Given the description of an element on the screen output the (x, y) to click on. 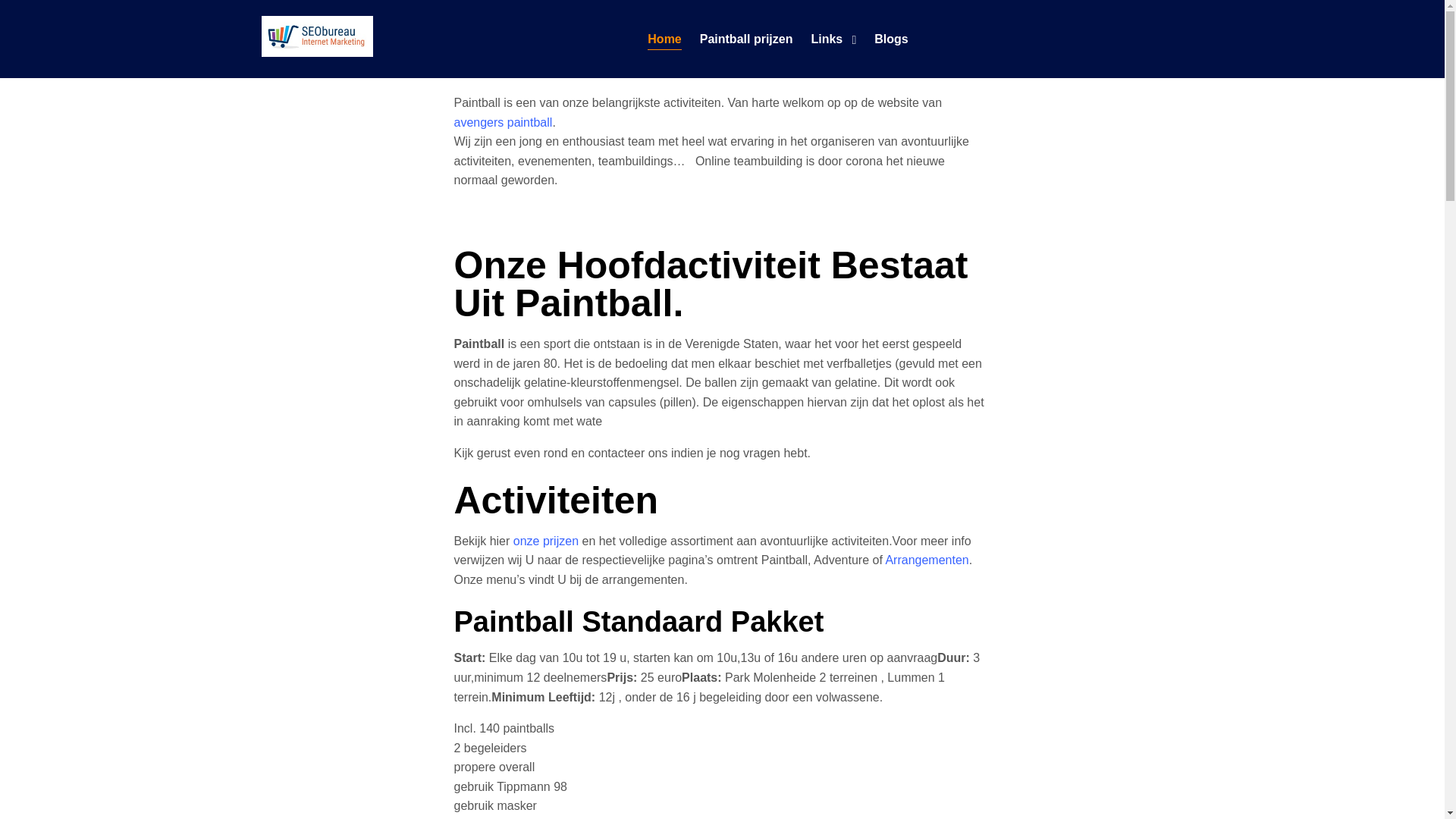
Paintball prijzen Element type: text (746, 39)
Links Element type: text (826, 39)
Home Element type: text (663, 39)
Arrangementen Element type: text (926, 559)
avengers paintball Element type: text (502, 122)
Blogs Element type: text (890, 39)
onze prijzen Element type: text (545, 540)
